Given the description of an element on the screen output the (x, y) to click on. 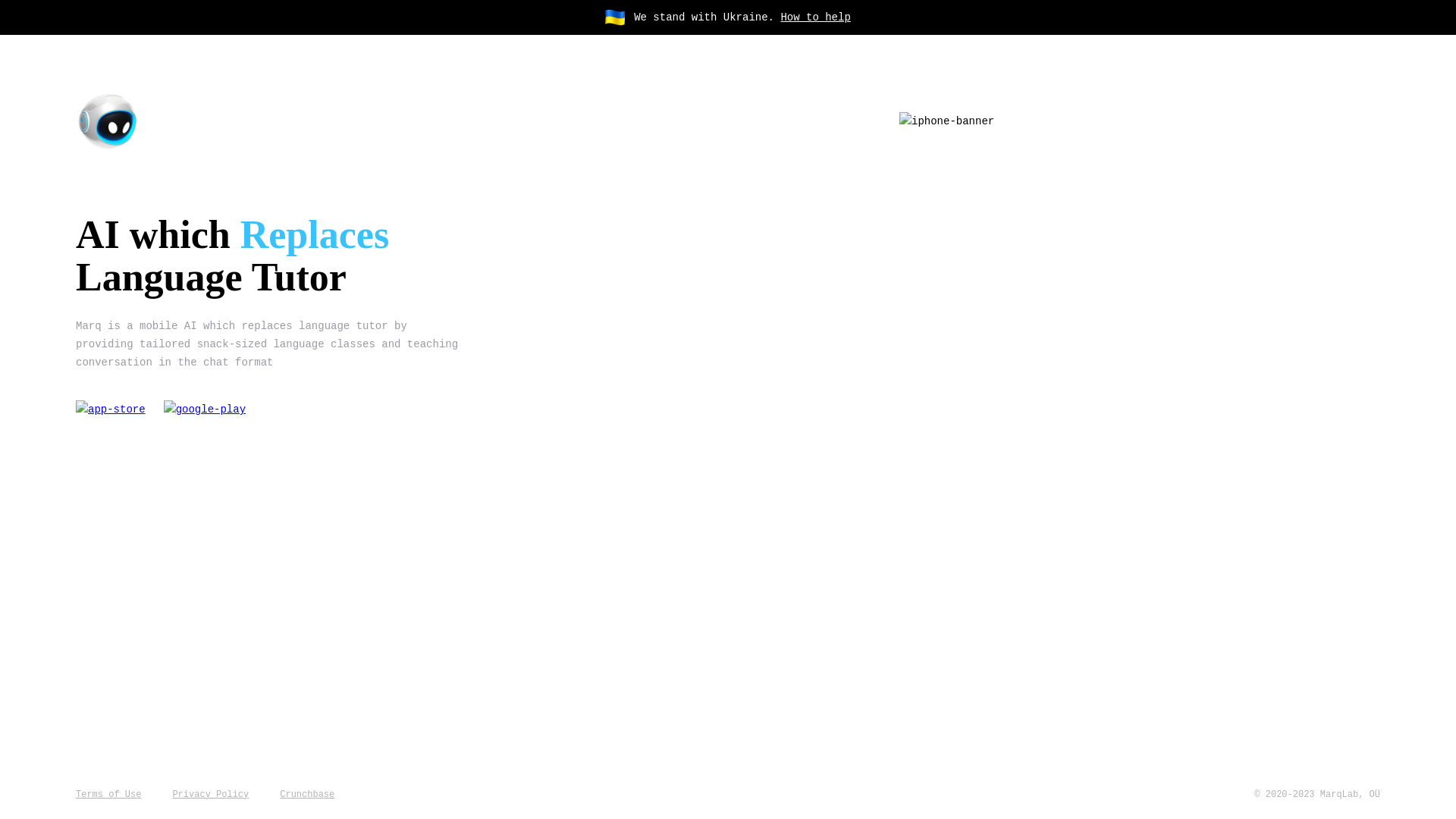
How to help Element type: text (815, 17)
Privacy Policy Element type: text (210, 794)
Terms of Use Element type: text (108, 794)
Crunchbase Element type: text (306, 794)
